Given the description of an element on the screen output the (x, y) to click on. 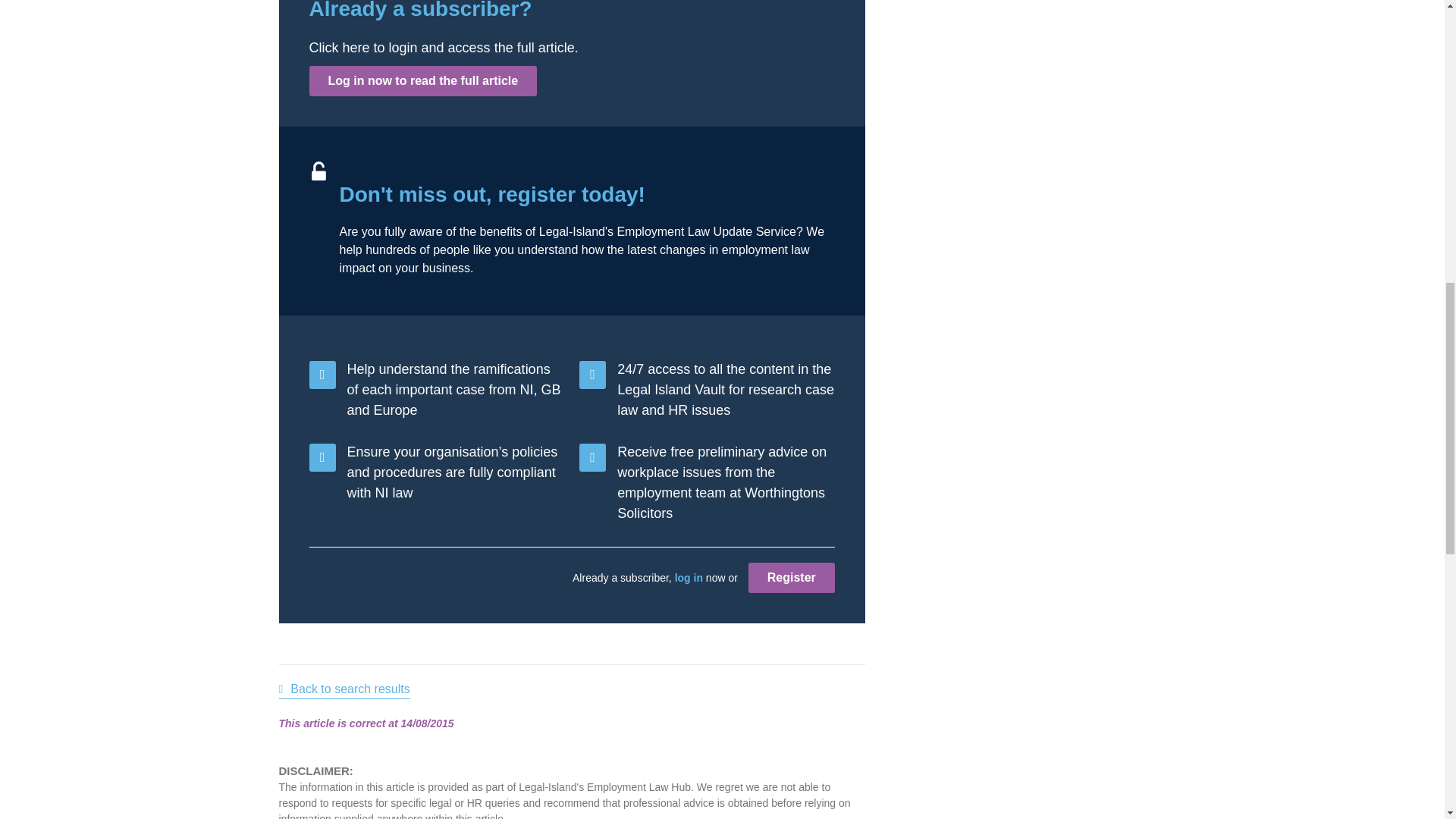
Register (791, 577)
Back to search results (344, 689)
log in (689, 577)
Log in now to read the full article (422, 81)
